Given the description of an element on the screen output the (x, y) to click on. 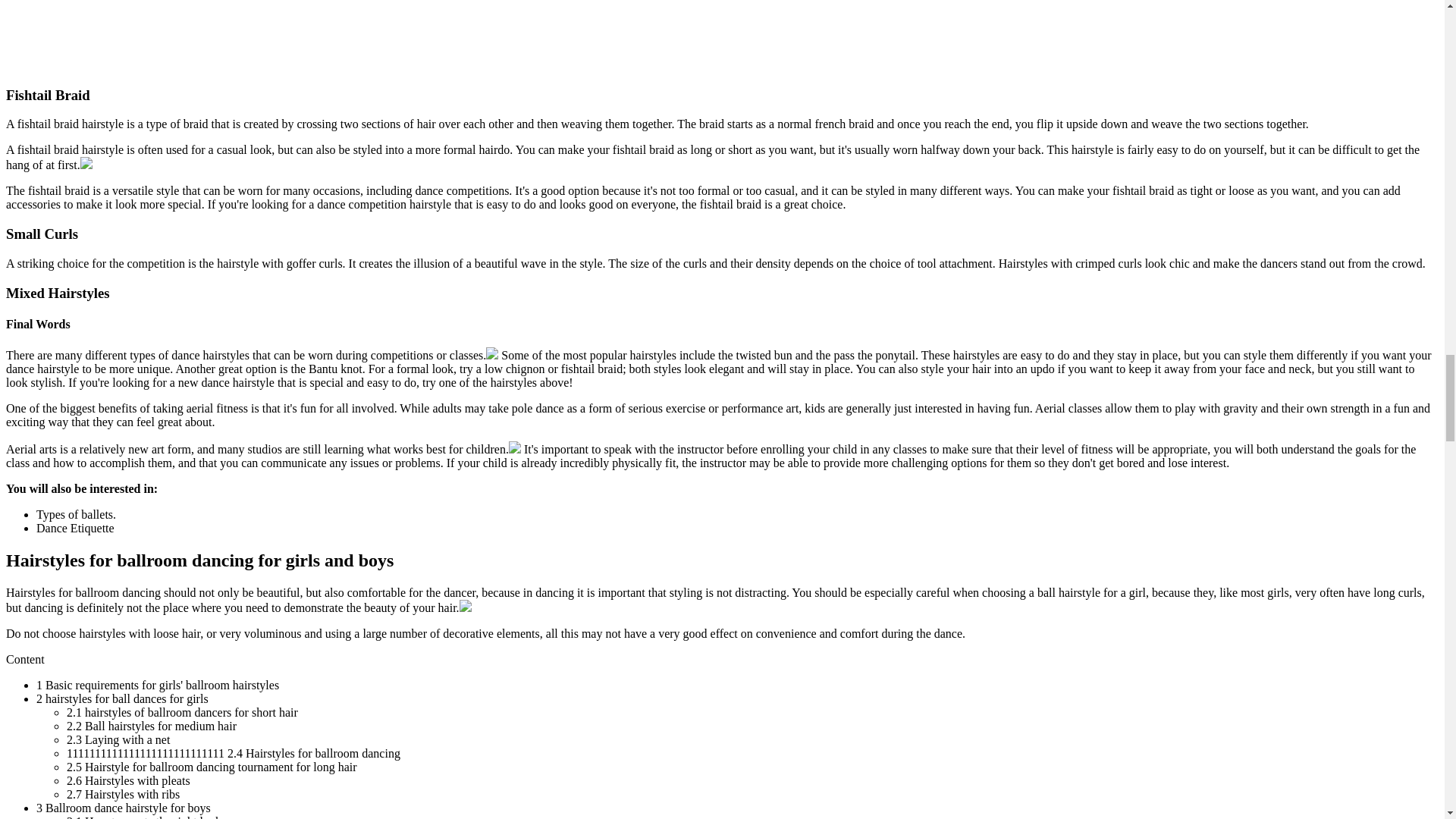
YouTube video player (118, 34)
